Given the description of an element on the screen output the (x, y) to click on. 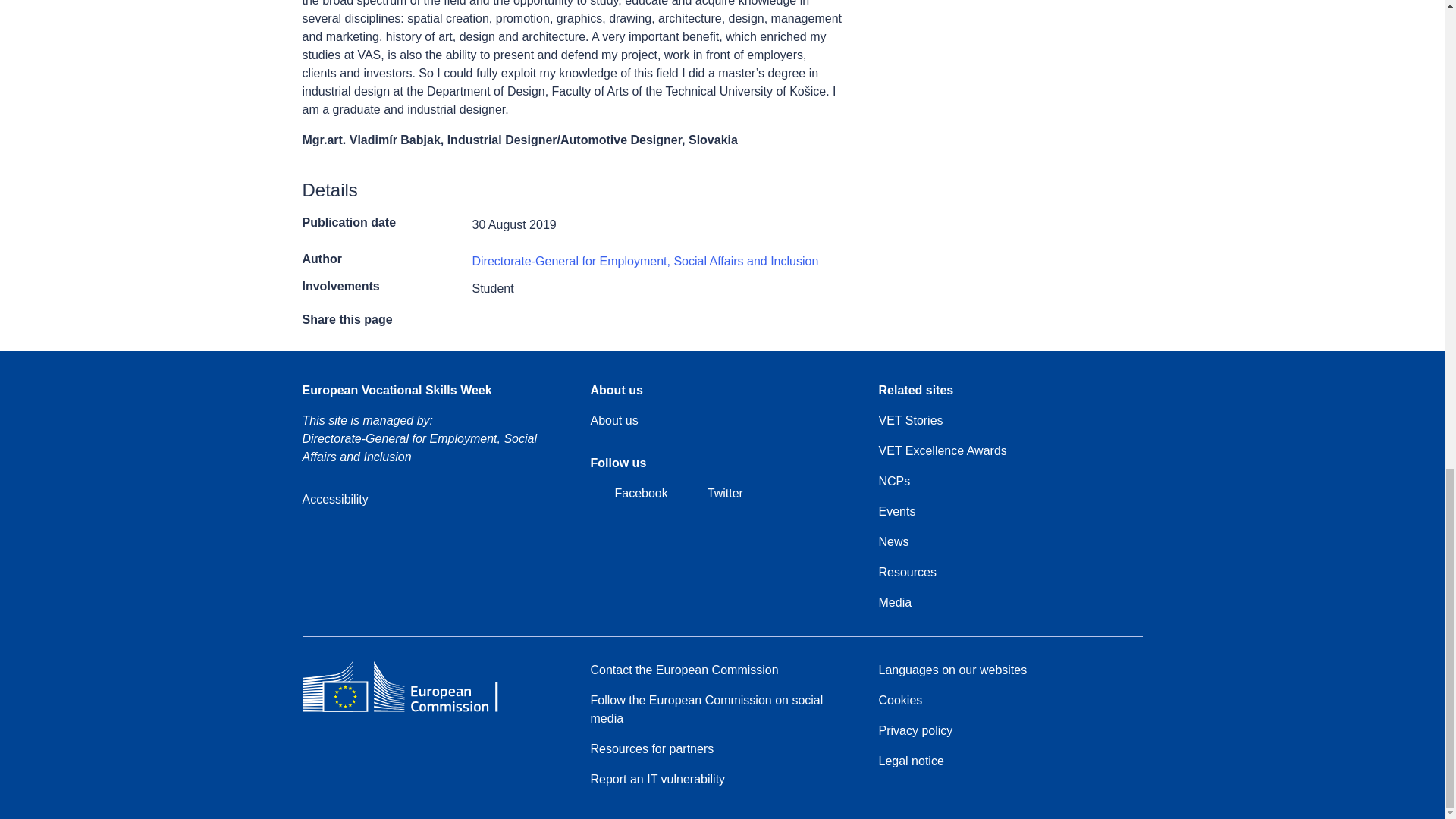
VET Stories (909, 420)
Events (896, 511)
Media (894, 602)
VET Excellence Awards (941, 451)
Twitter (712, 493)
Accessibility (334, 499)
Facebook (627, 493)
Resources (906, 572)
News (892, 542)
NCPs (893, 481)
